Given the description of an element on the screen output the (x, y) to click on. 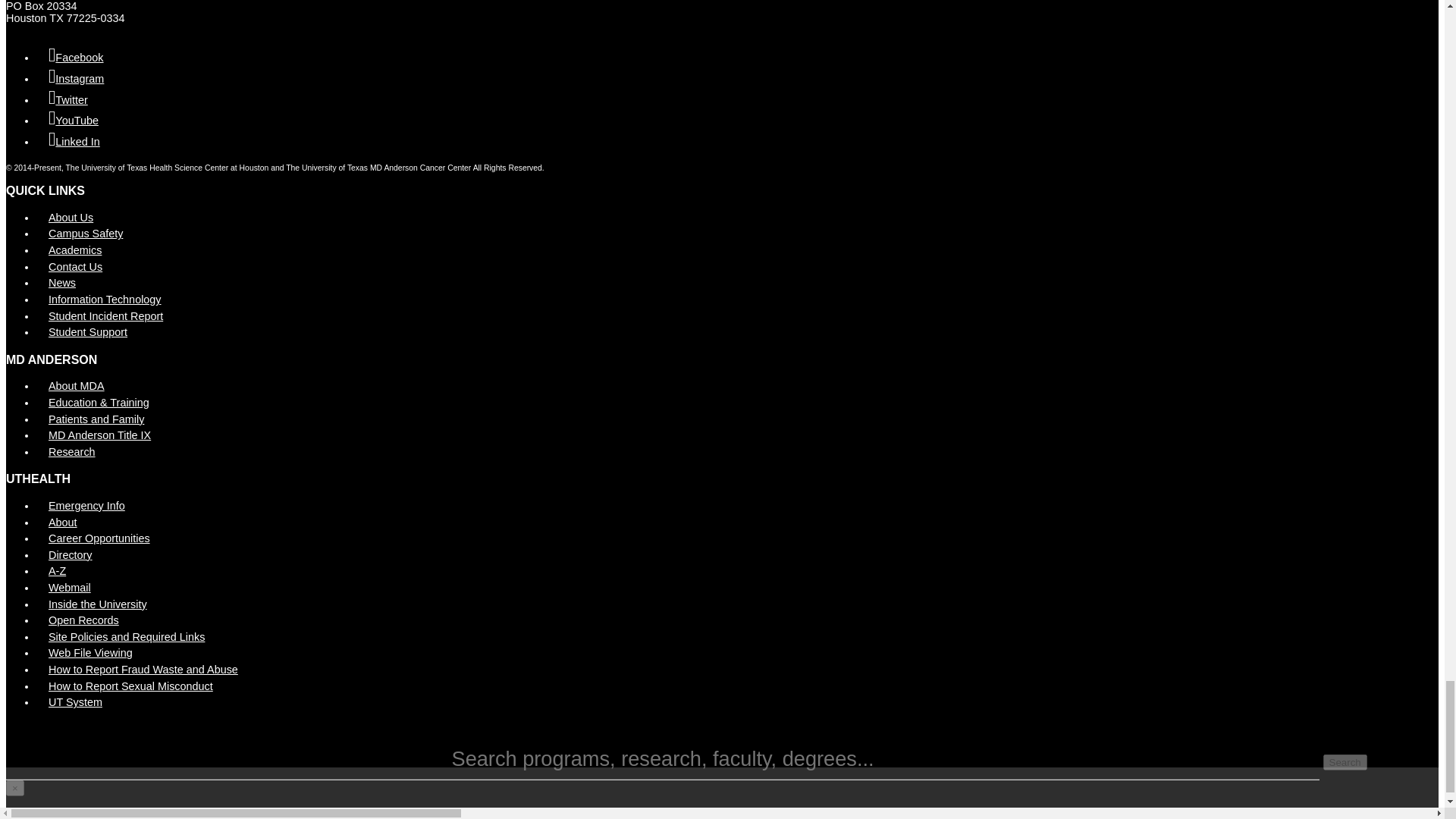
Search (1345, 762)
